Given the description of an element on the screen output the (x, y) to click on. 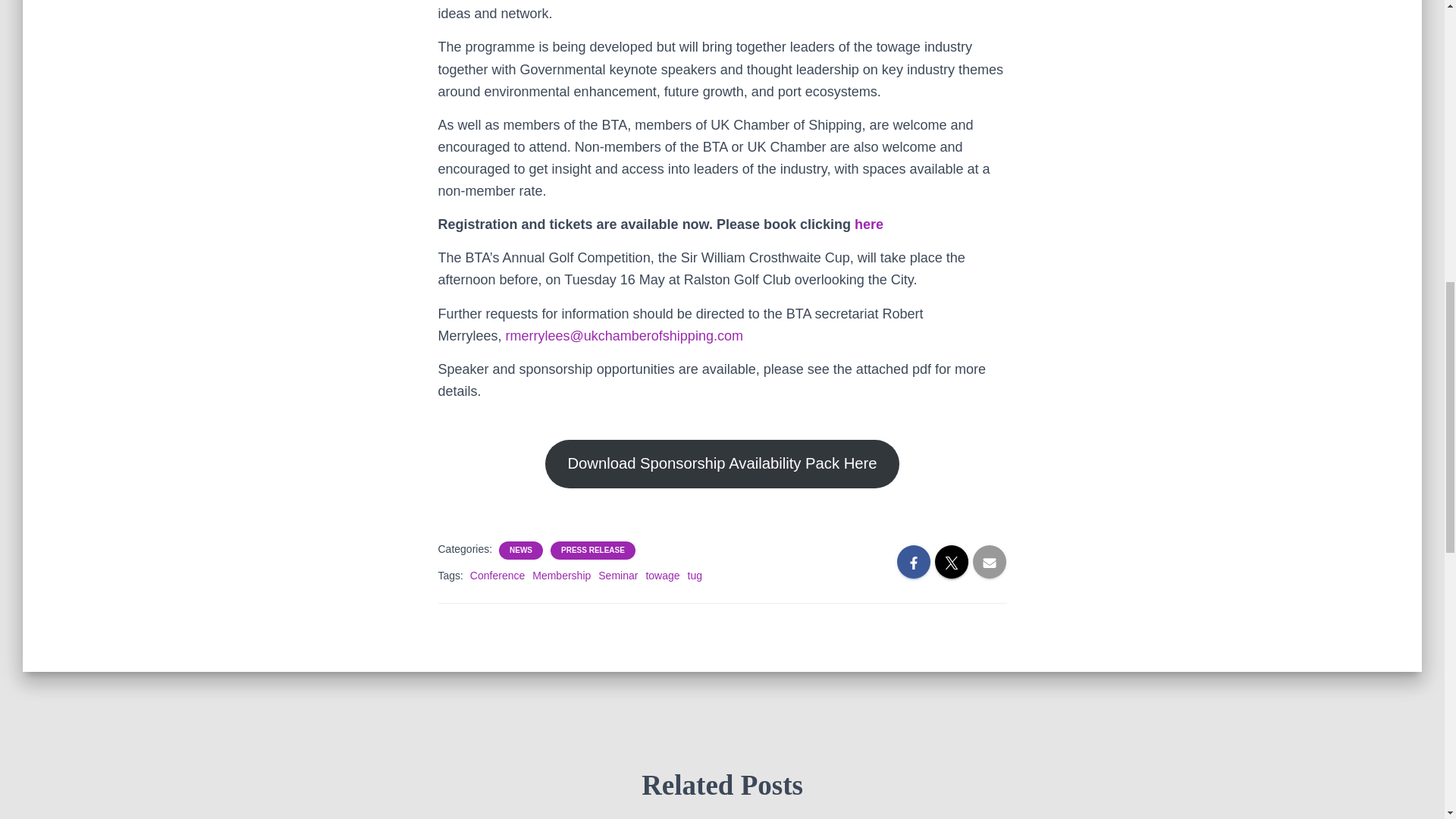
PRESS RELEASE (592, 550)
here (868, 224)
towage (662, 575)
tug (694, 575)
Membership (561, 575)
Seminar (617, 575)
Download Sponsorship Availability Pack Here (721, 463)
Conference (497, 575)
NEWS (521, 550)
